Given the description of an element on the screen output the (x, y) to click on. 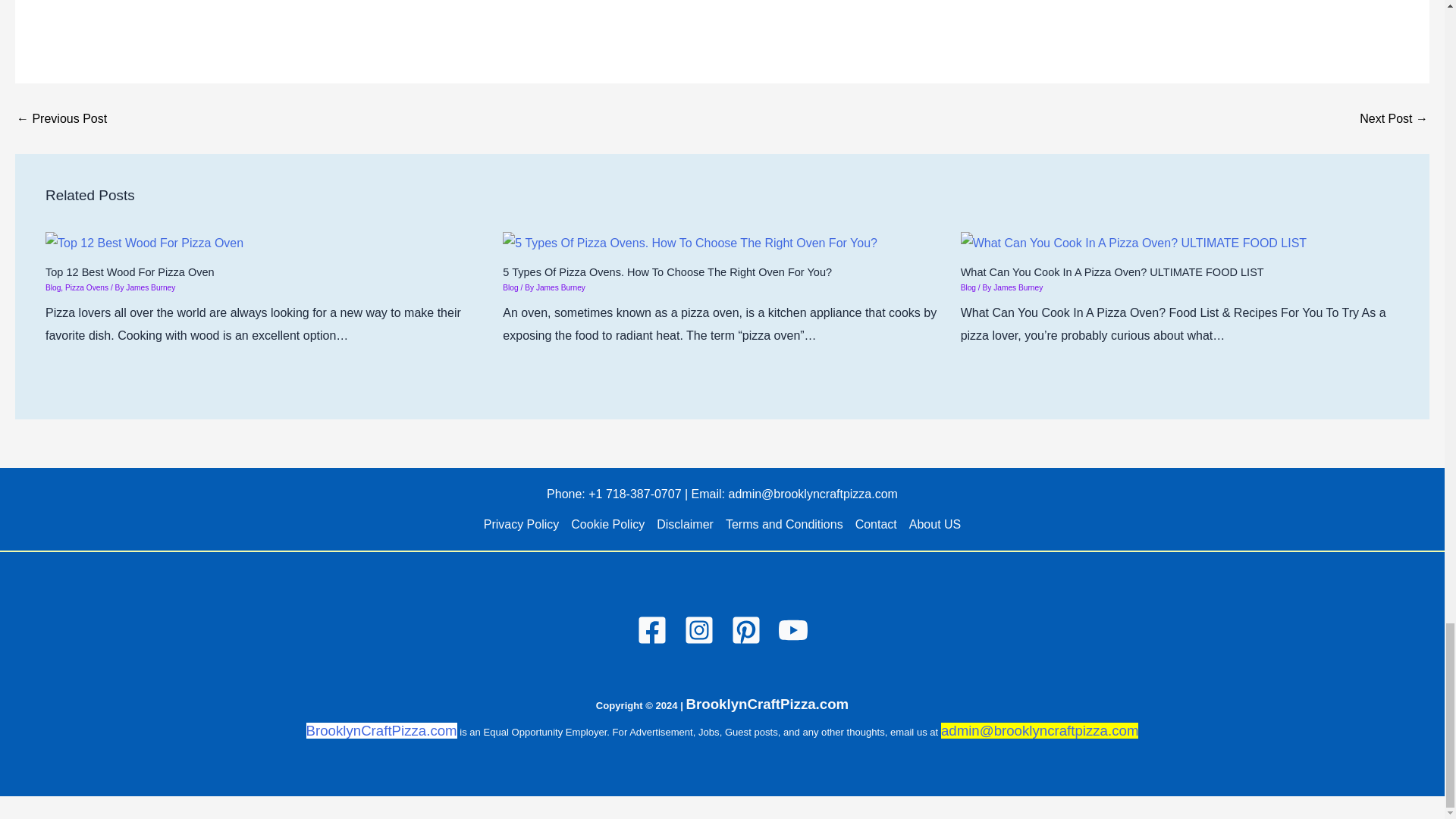
View all posts by James Burney (1017, 287)
What Can You Cook In A Pizza Oven? ULTIMATE FOOD LIST (1133, 242)
View all posts by James Burney (560, 287)
View all posts by James Burney (149, 287)
Tips For Making Dinner Plans In Tennessee (1393, 119)
Top 12 Best Wood For Pizza Oven (144, 242)
6 Starters That Are A Hit At Family Dinner Parties (61, 119)
